Given the description of an element on the screen output the (x, y) to click on. 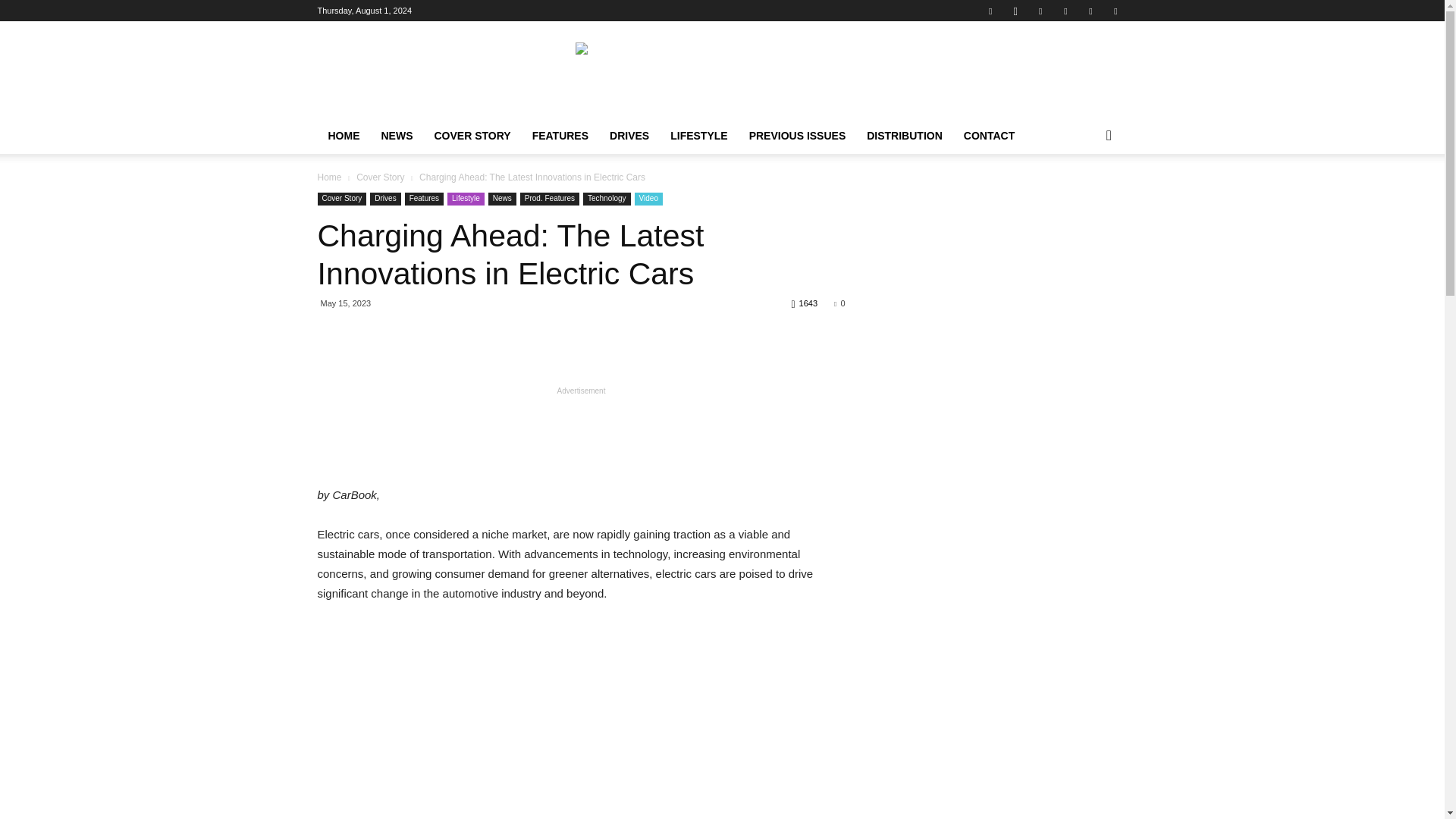
Twitter (1090, 10)
COVER STORY (472, 135)
Facebook (989, 10)
Linkedin (1040, 10)
Instagram (1015, 10)
NEWS (396, 135)
Pinterest (1065, 10)
HOME (343, 135)
Youtube (1114, 10)
